Given the description of an element on the screen output the (x, y) to click on. 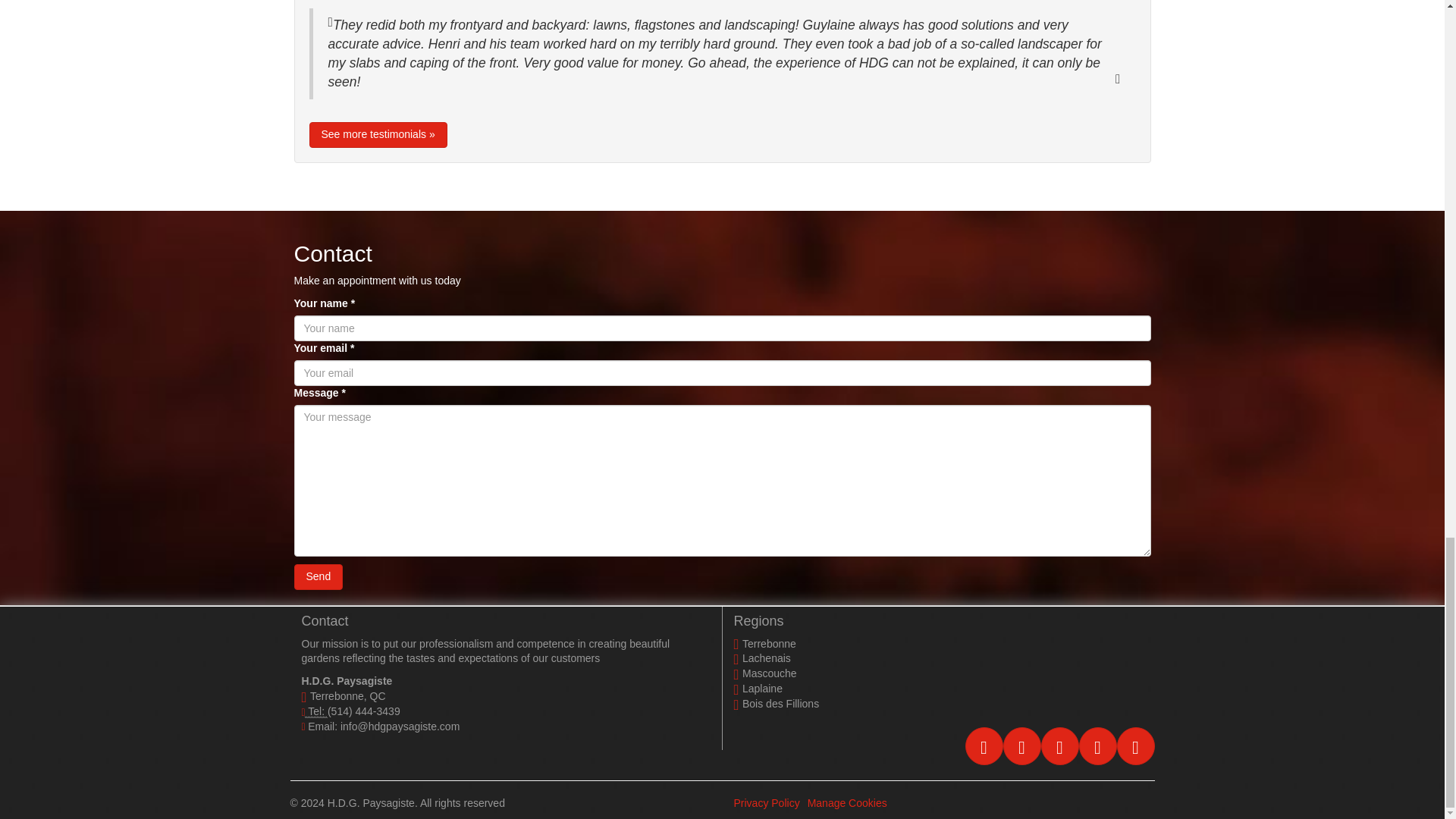
Manage Cookies (847, 802)
Send (318, 576)
Privacy Policy (766, 802)
